Given the description of an element on the screen output the (x, y) to click on. 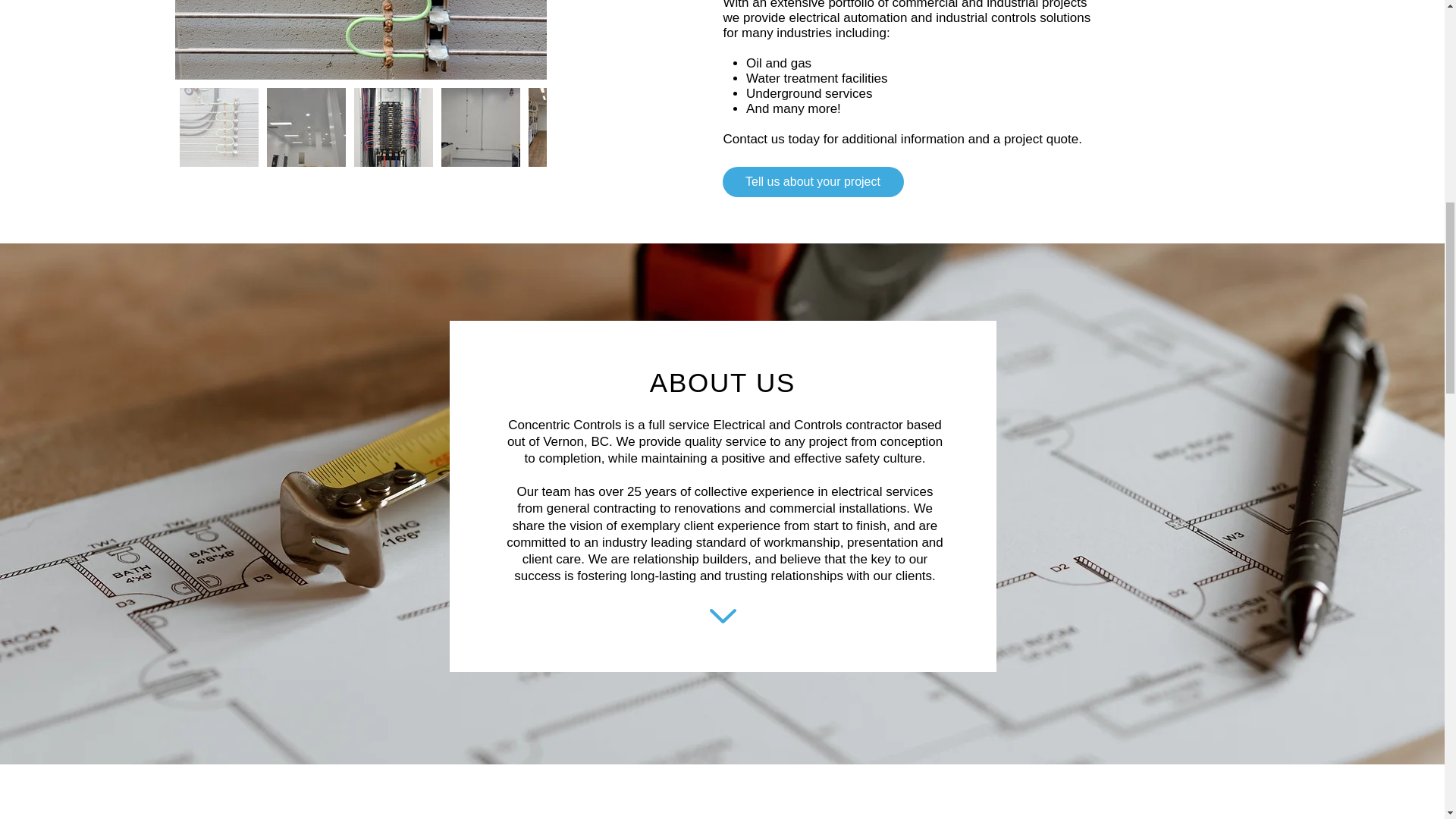
Tell us about your project (812, 182)
